Given the description of an element on the screen output the (x, y) to click on. 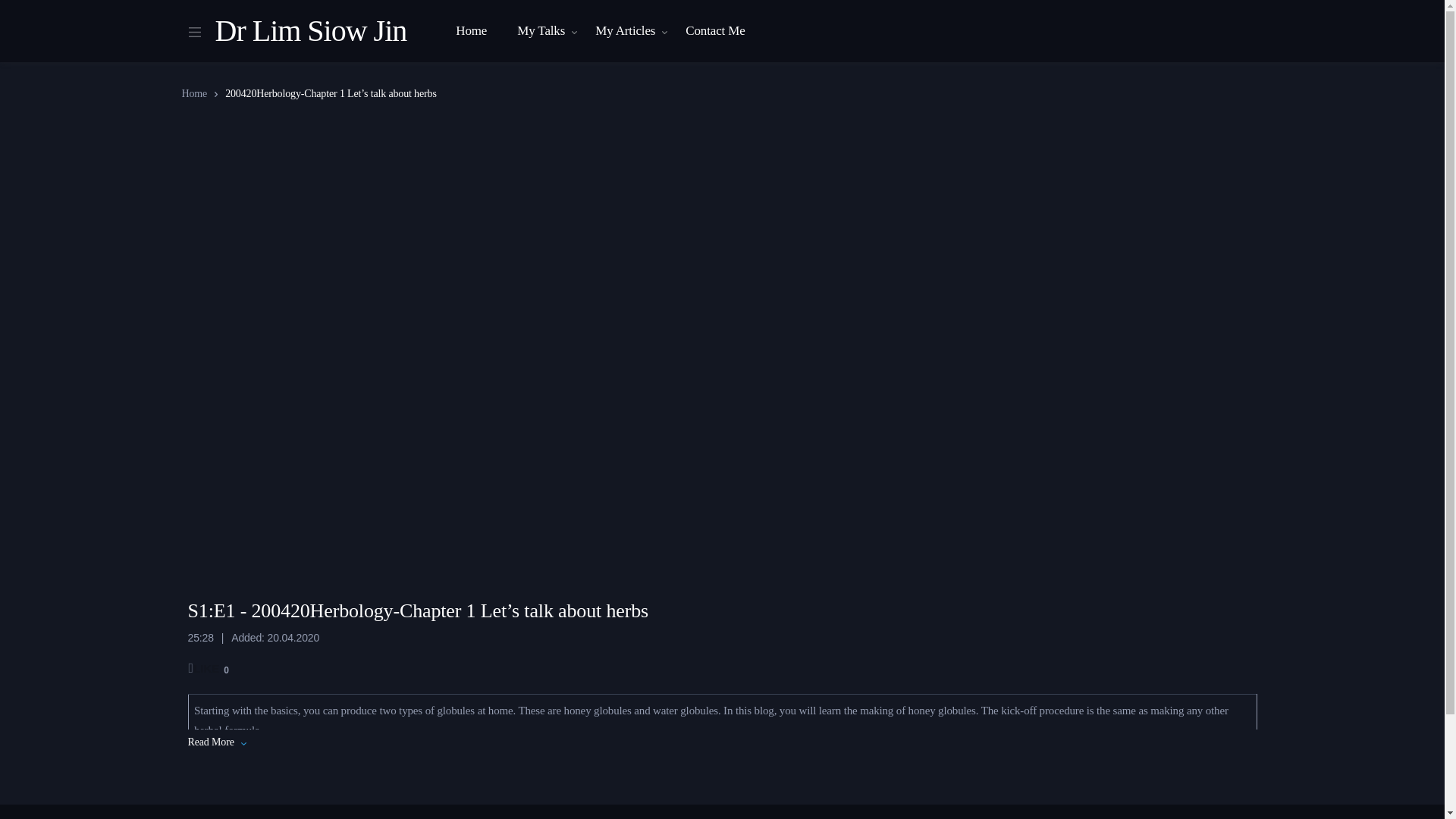
My Talks (540, 31)
My Articles (624, 31)
Dr Lim Siow Jin (311, 30)
Contact Me (714, 31)
Home (471, 31)
